Given the description of an element on the screen output the (x, y) to click on. 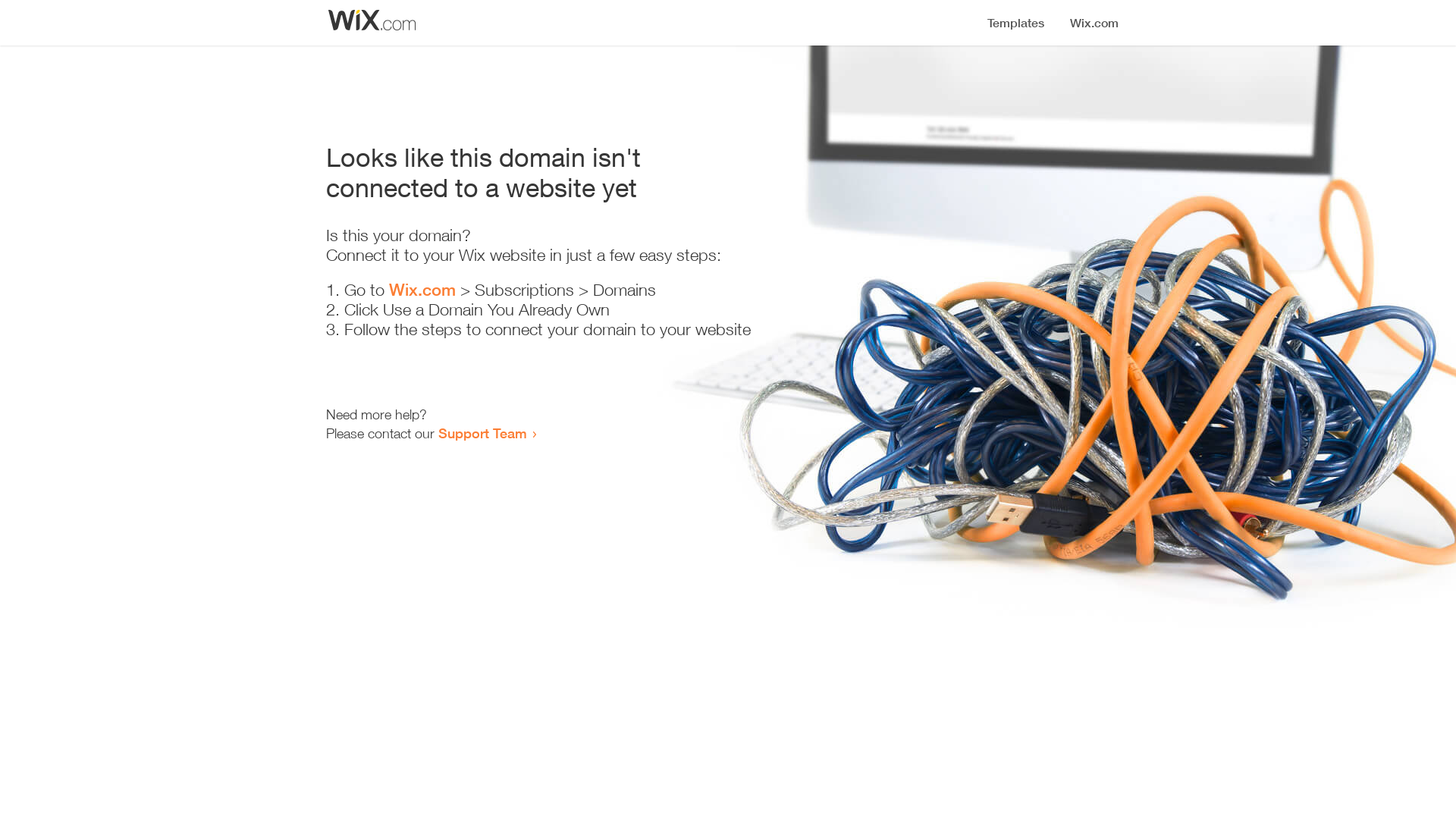
Support Team Element type: text (482, 432)
Wix.com Element type: text (422, 289)
